Given the description of an element on the screen output the (x, y) to click on. 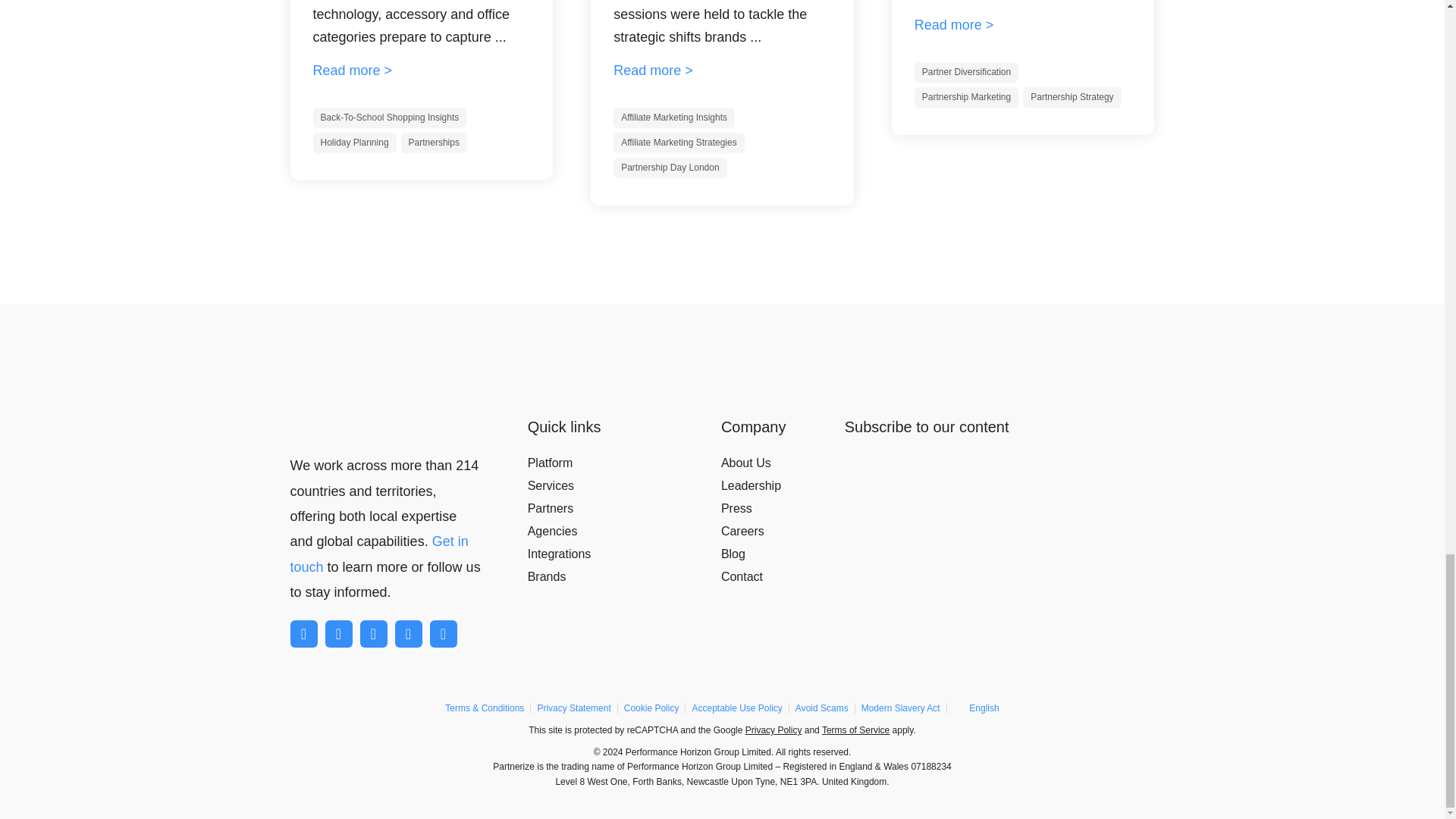
English (976, 707)
Terms (855, 729)
Privacy (773, 729)
Partnerize (357, 422)
